Given the description of an element on the screen output the (x, y) to click on. 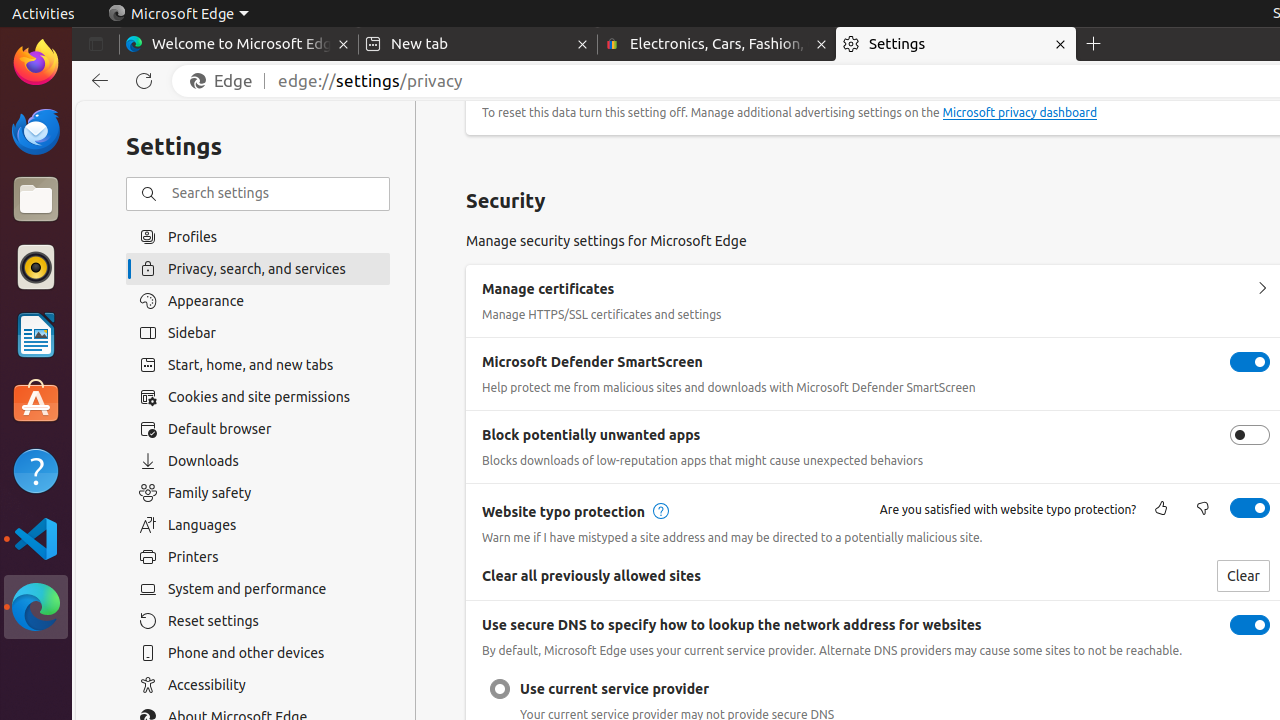
Use current service provider Your current service provider may not provide secure DNS Element type: radio-button (500, 689)
Sidebar Element type: tree-item (258, 333)
Thunderbird Mail Element type: push-button (36, 131)
Phone and other devices Element type: tree-item (258, 653)
Clear all previously allowed sites Element type: push-button (1243, 576)
